Given the description of an element on the screen output the (x, y) to click on. 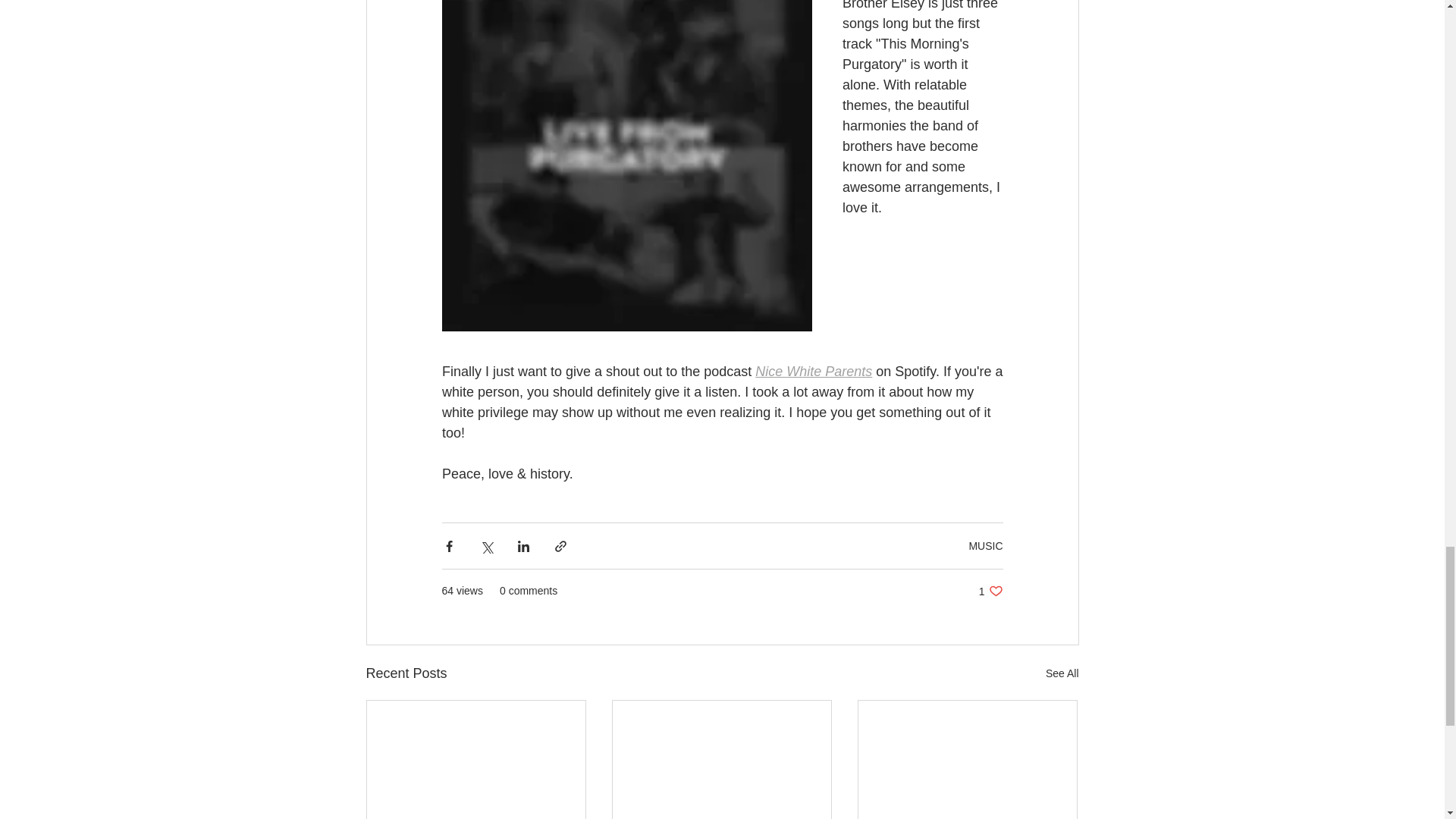
MUSIC (990, 590)
See All (985, 545)
Nice White Parents (1061, 673)
